Given the description of an element on the screen output the (x, y) to click on. 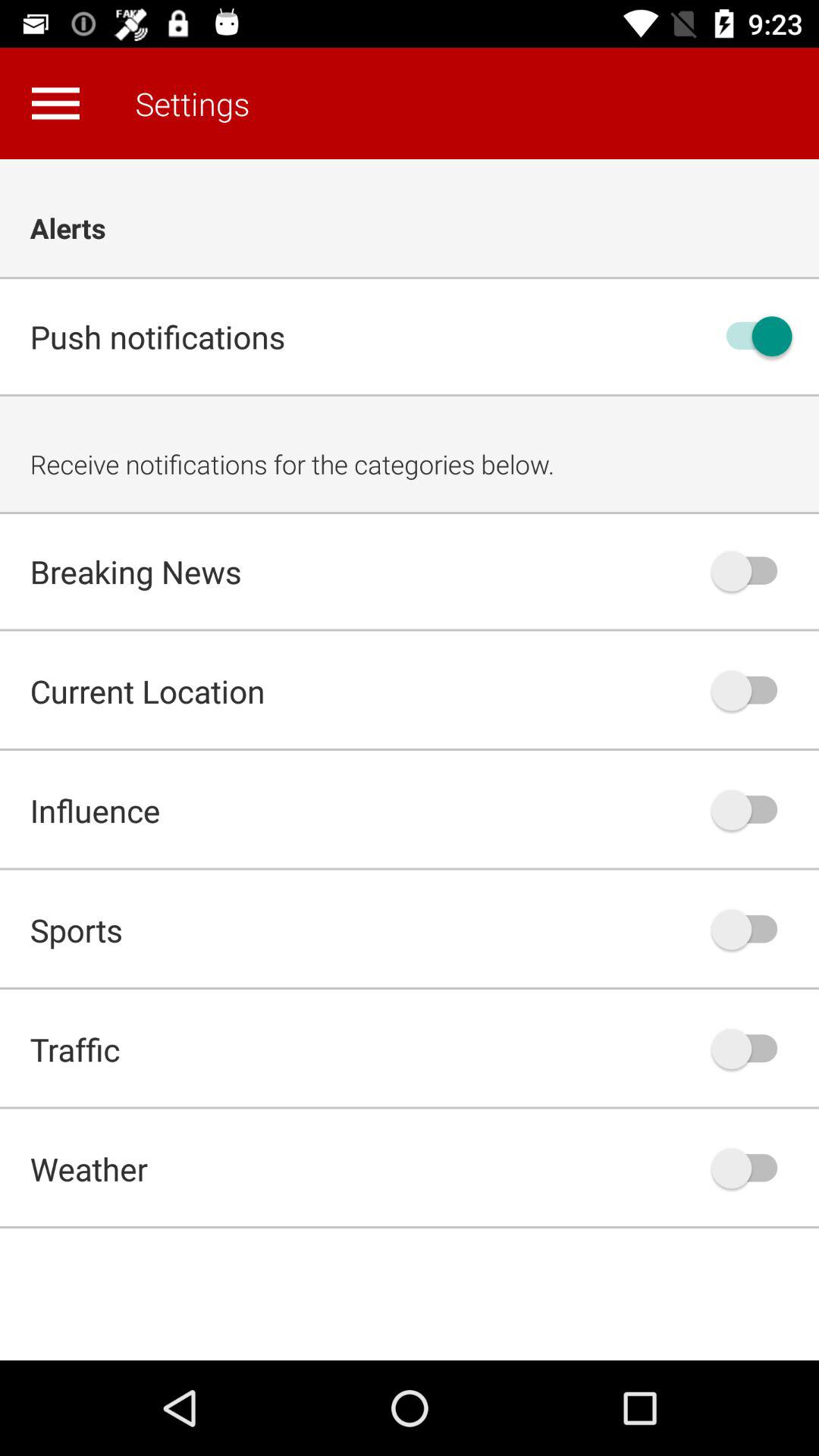
main menu (55, 103)
